Given the description of an element on the screen output the (x, y) to click on. 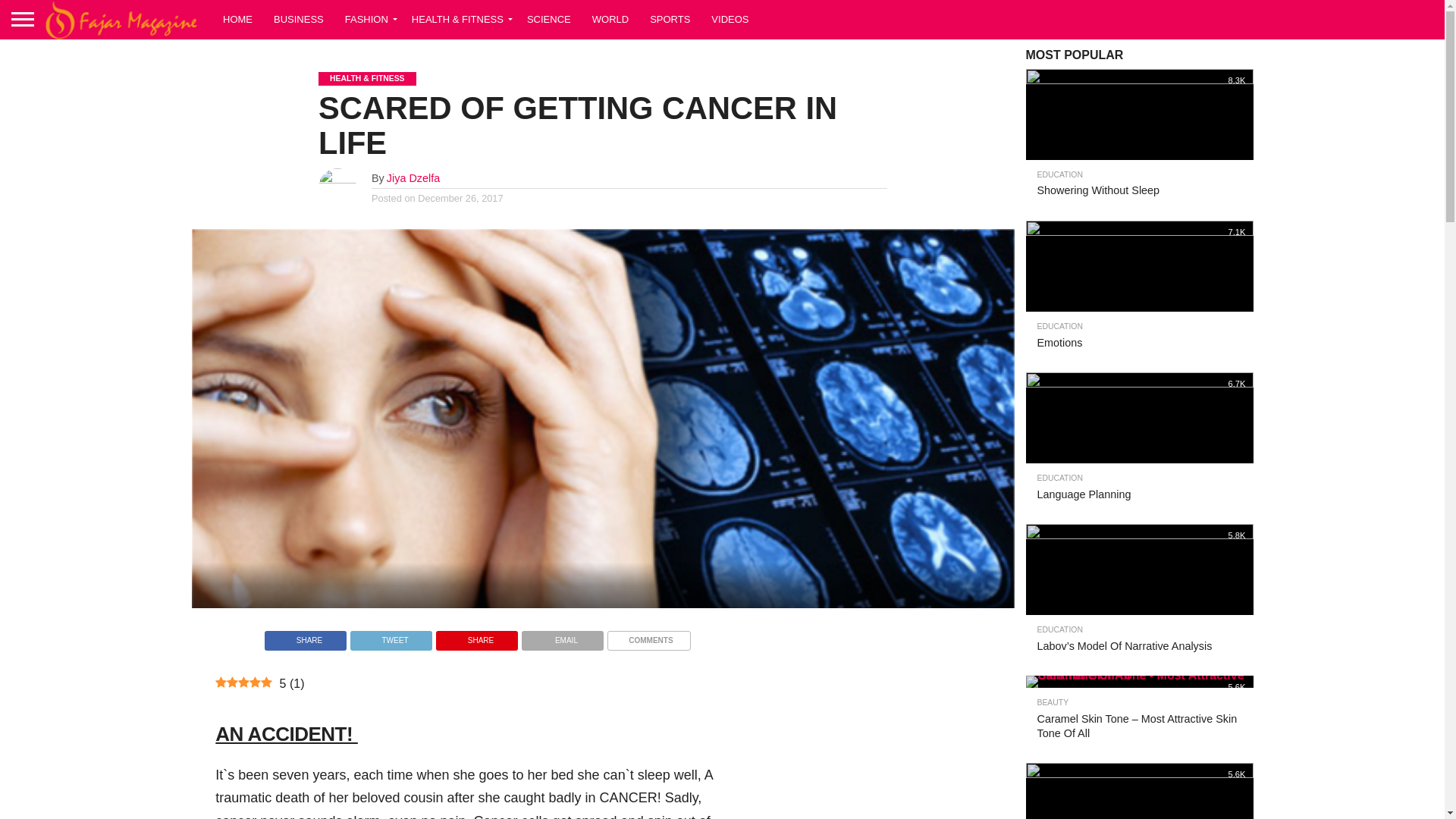
Pin This Post (476, 642)
SHARE (476, 642)
SPORTS (669, 18)
VIDEOS (729, 18)
FASHION (367, 18)
Share on Facebook (305, 642)
HOME (237, 18)
BUSINESS (298, 18)
EMAIL (562, 642)
SCIENCE (548, 18)
WORLD (609, 18)
COMMENTS (648, 642)
Tweet This Post (390, 642)
TWEET (390, 642)
Posts by Jiya Dzelfa (413, 177)
